Given the description of an element on the screen output the (x, y) to click on. 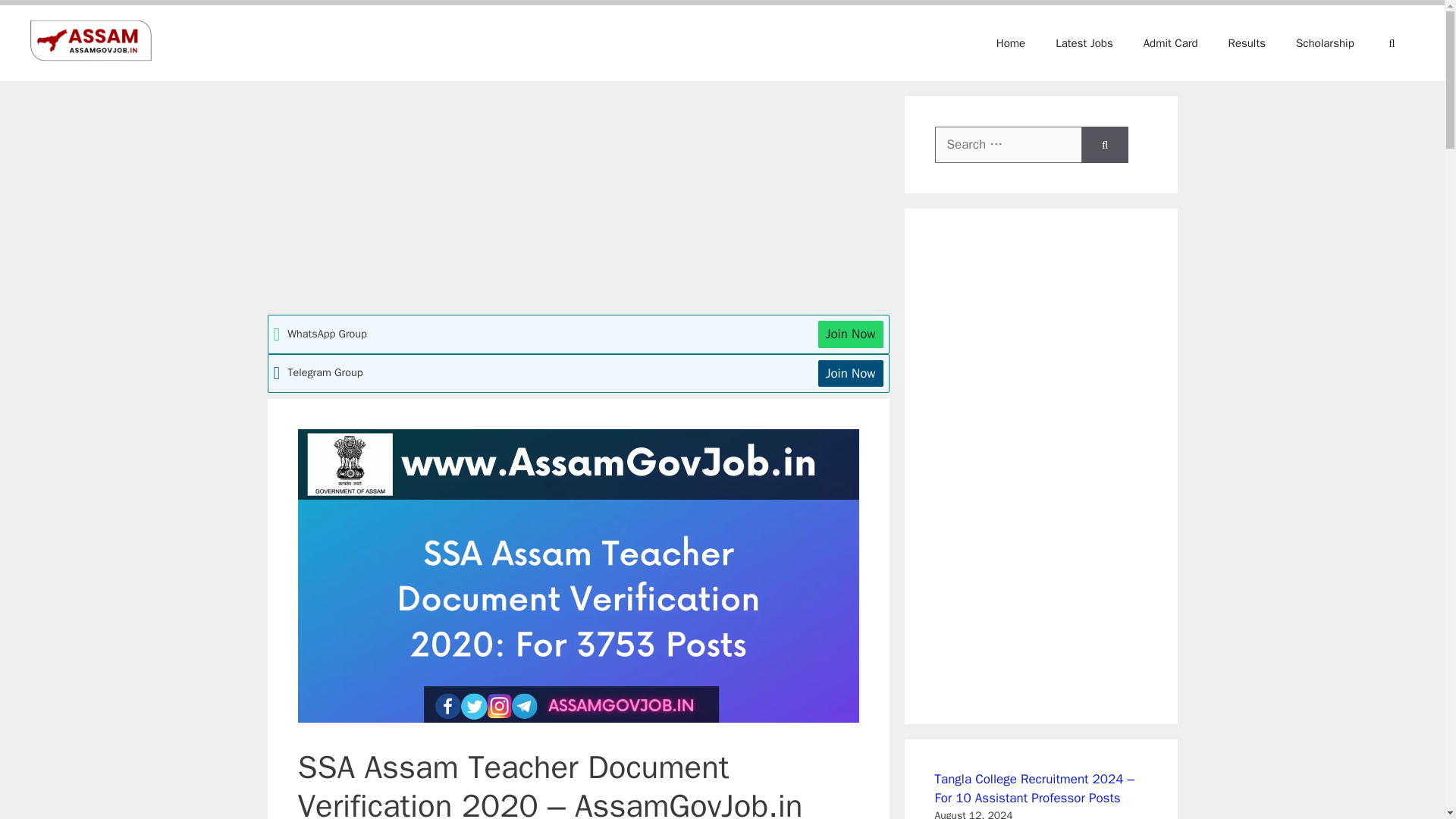
Results (1246, 43)
Join Now (850, 334)
Latest Jobs (1084, 43)
Join Now (850, 372)
Advertisement (577, 202)
Admit Card (1170, 43)
Home (1011, 43)
Scholarship (1325, 43)
